Given the description of an element on the screen output the (x, y) to click on. 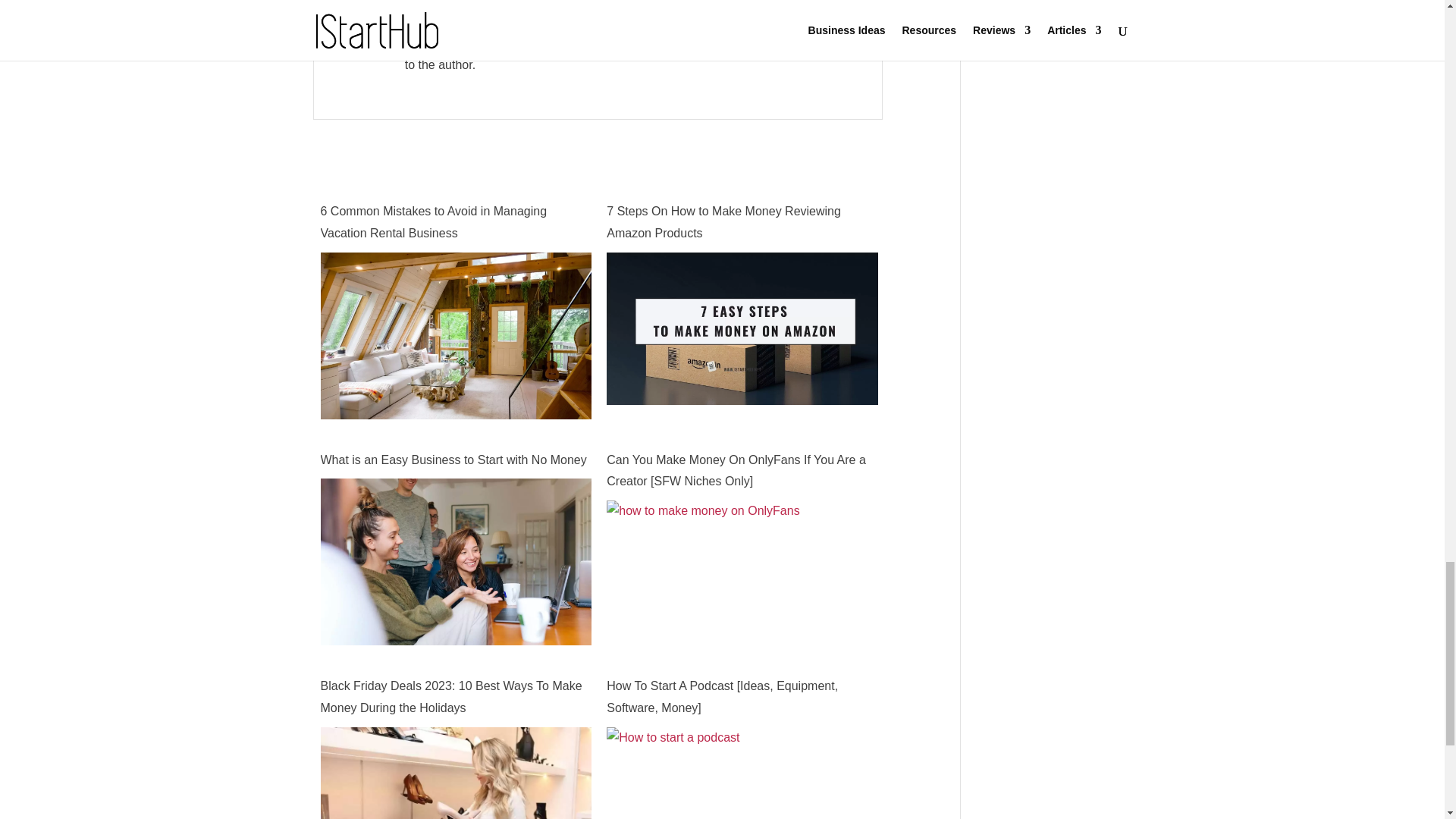
7 Steps On How to Make Money Reviewing Amazon Products (742, 392)
What is an Easy Business to Start with No Money (455, 647)
7 Steps On How to Make Money Reviewing Amazon Products (742, 222)
What is an Easy Business to Start with No Money (455, 460)
7 Steps On How to Make Money Reviewing Amazon Products (742, 222)
